Given the description of an element on the screen output the (x, y) to click on. 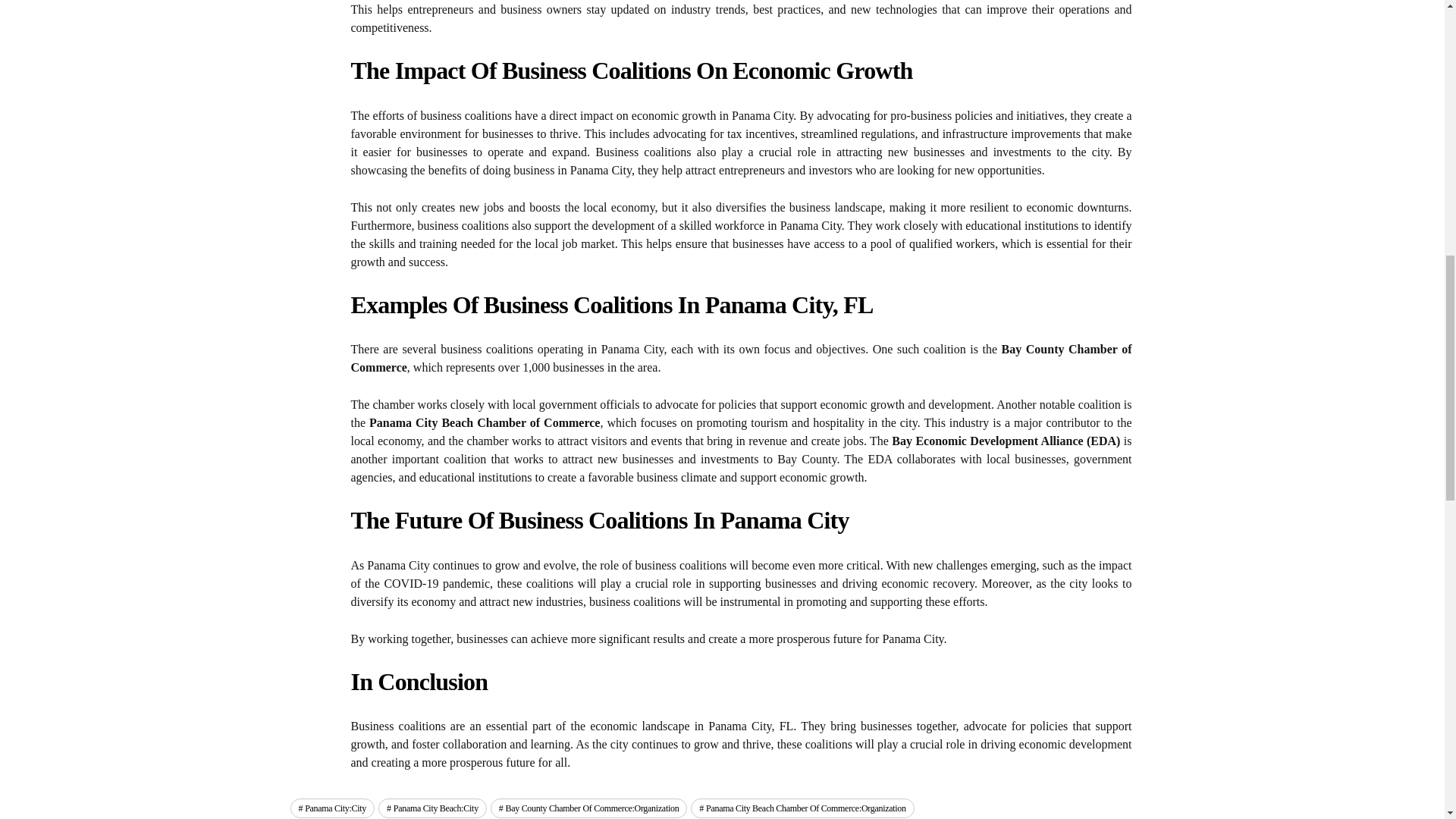
Bay County Chamber Of Commerce:Organization (588, 808)
Panama City:City (331, 808)
Panama City Beach:City (432, 808)
Panama City Beach Chamber Of Commerce:Organization (802, 808)
